Given the description of an element on the screen output the (x, y) to click on. 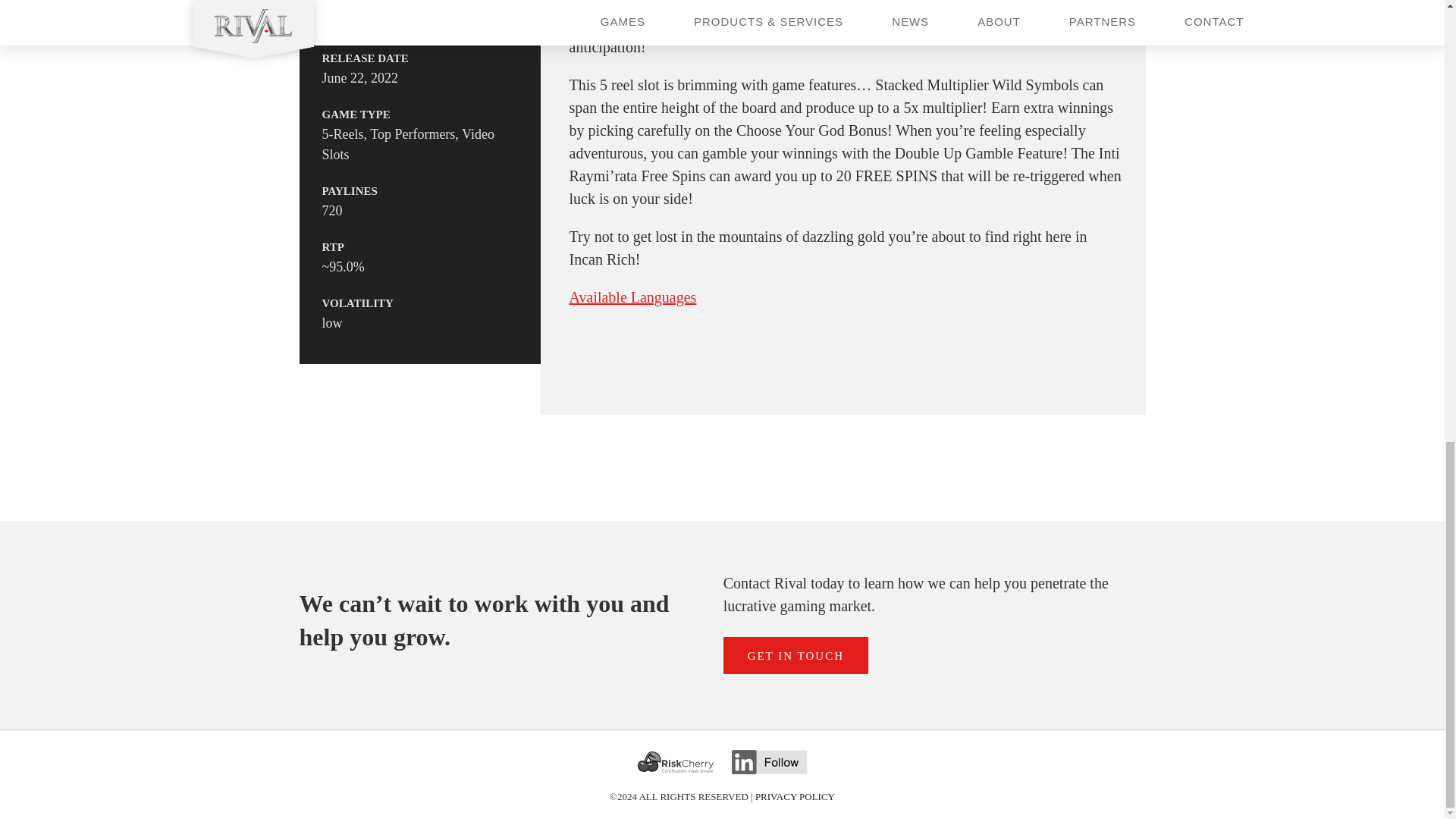
PRIVACY POLICY (794, 796)
GET IN TOUCH (795, 655)
Available Languages (632, 297)
